Given the description of an element on the screen output the (x, y) to click on. 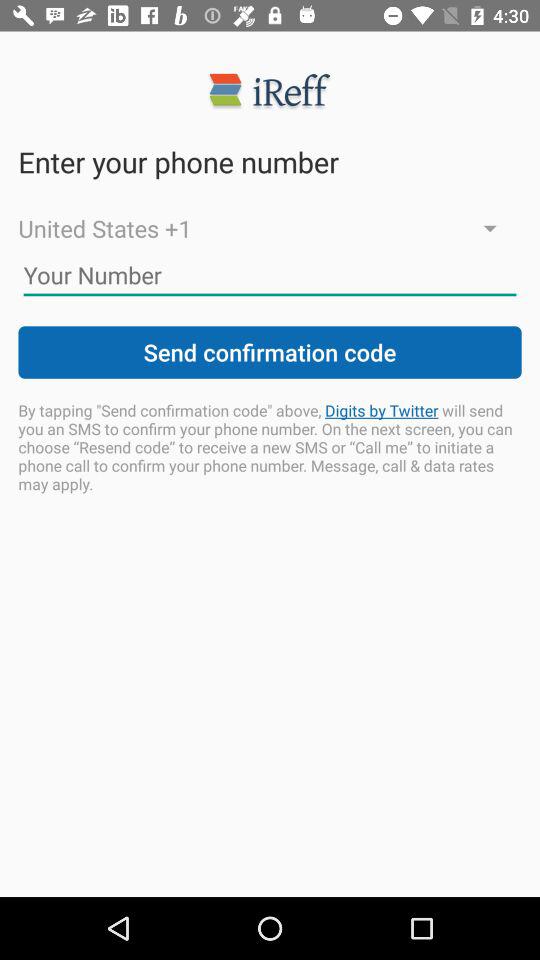
tap the icon below enter your phone (269, 228)
